Given the description of an element on the screen output the (x, y) to click on. 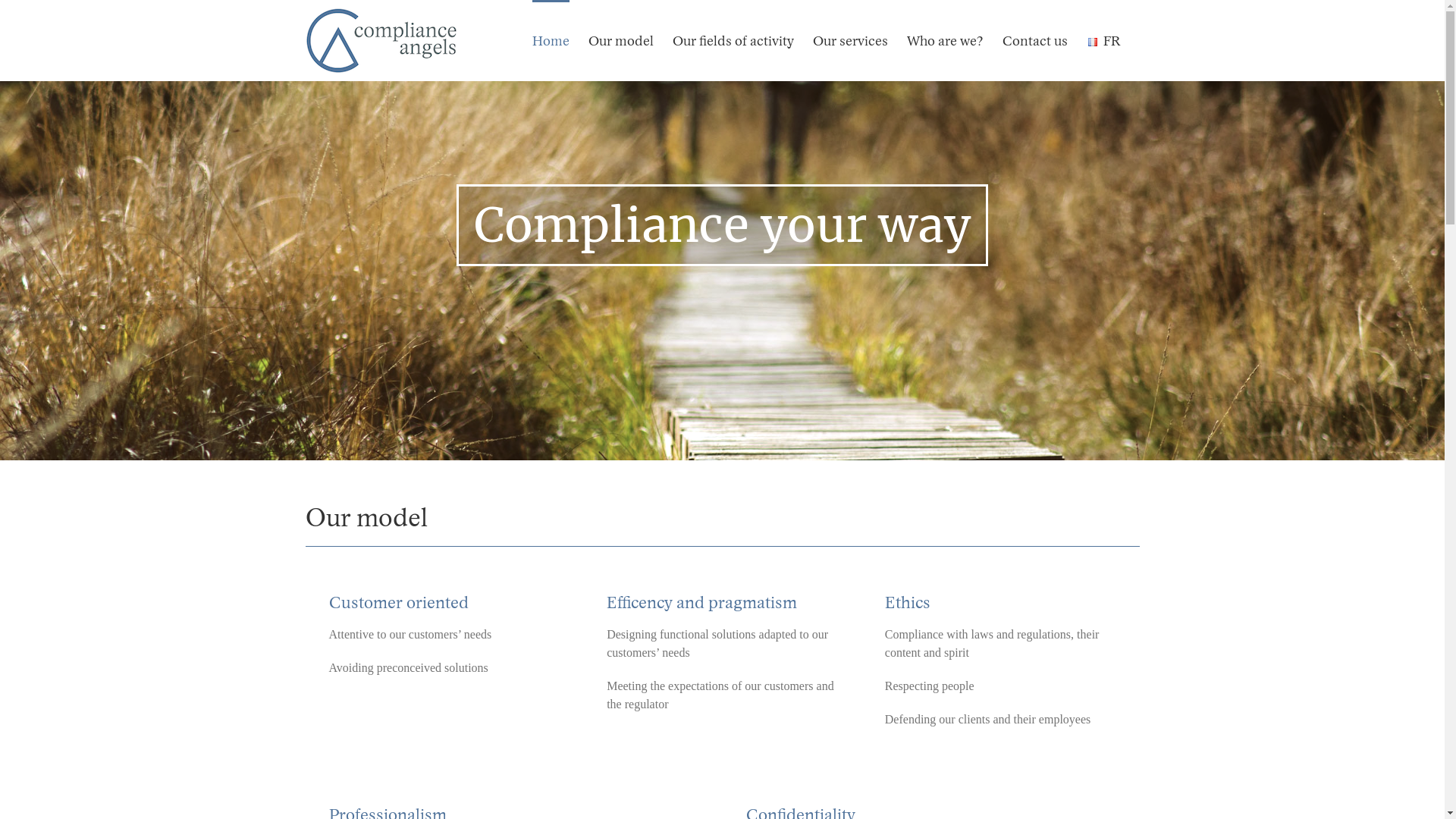
Who are we? Element type: text (944, 40)
Our fields of activity Element type: text (732, 40)
Our model Element type: text (620, 40)
FR Element type: text (1103, 40)
Home Element type: text (550, 40)
Our services Element type: text (850, 40)
Contact us Element type: text (1034, 40)
